Given the description of an element on the screen output the (x, y) to click on. 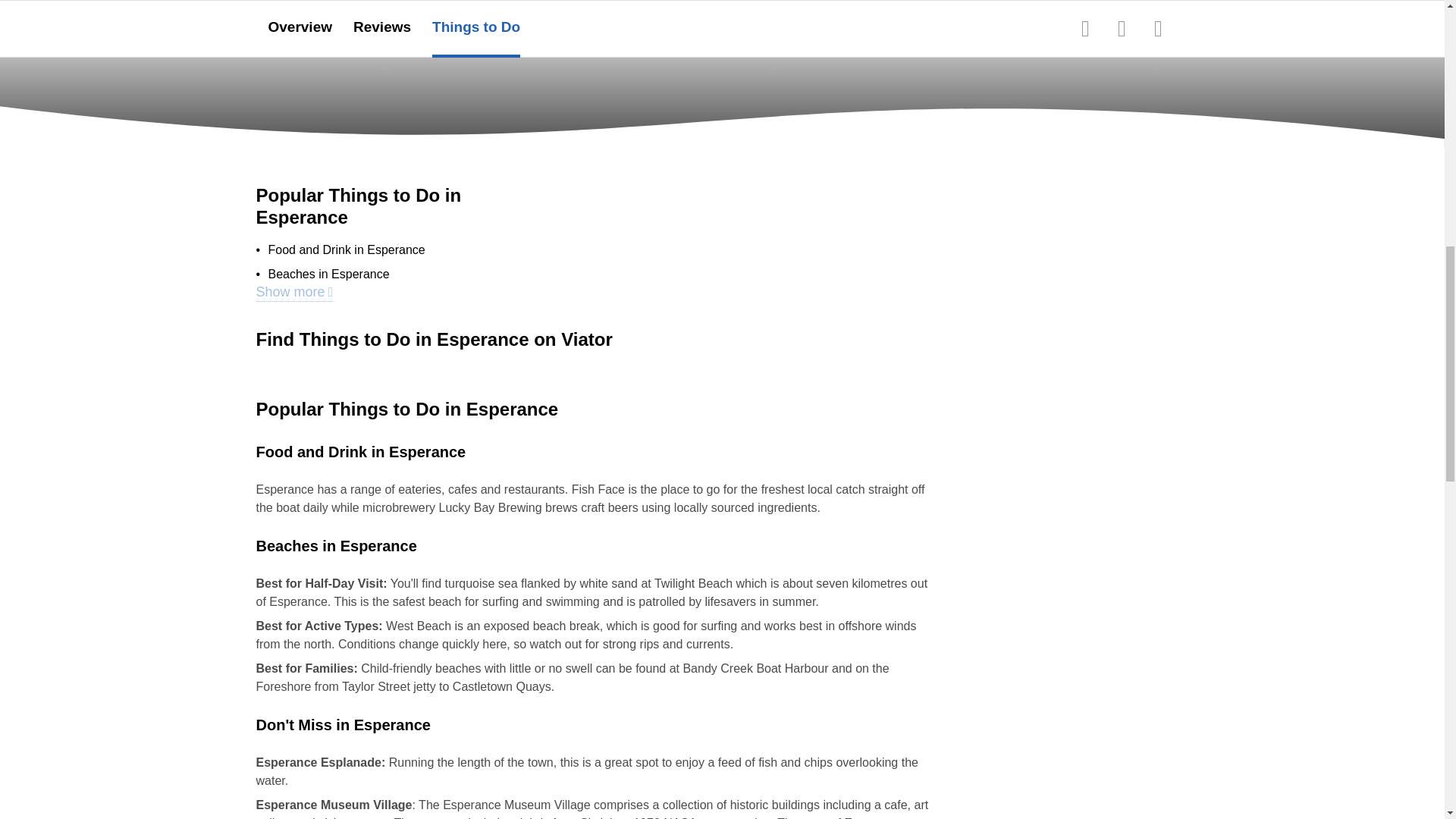
Beaches in Esperance (328, 274)
Show more (294, 293)
Food and Drink in Esperance (346, 249)
